Given the description of an element on the screen output the (x, y) to click on. 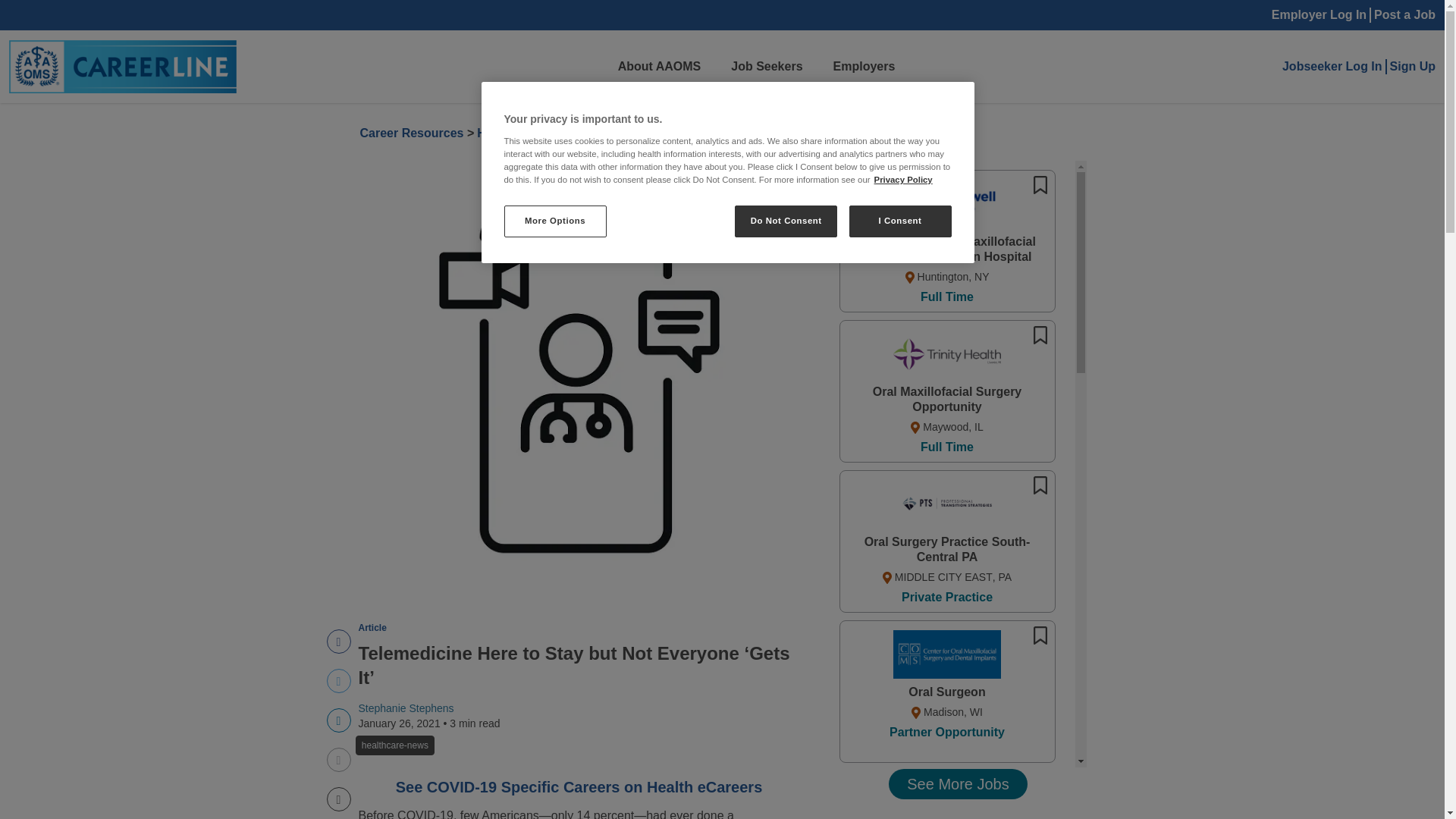
Healthcare News (525, 132)
Employers (863, 66)
Career Resources (338, 720)
print (411, 132)
email (338, 759)
Jobseeker Log In (338, 641)
facebook (338, 799)
Industry News (1331, 66)
twitter (338, 641)
Healthcare News (628, 132)
Industry News (338, 680)
Career Resources (525, 132)
Post a Job (628, 132)
